Given the description of an element on the screen output the (x, y) to click on. 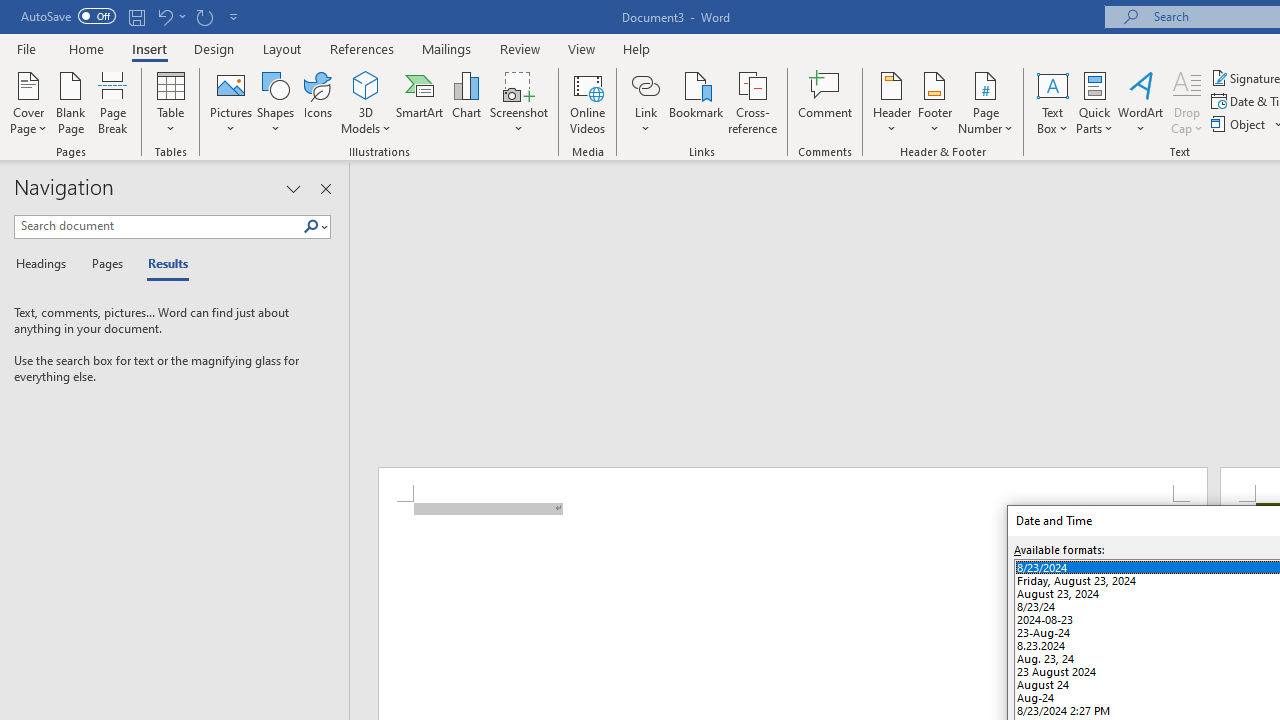
Footer (934, 102)
Text Box (1052, 102)
Blank Page (70, 102)
WordArt (1141, 102)
Shapes (275, 102)
Icons (317, 102)
